Given the description of an element on the screen output the (x, y) to click on. 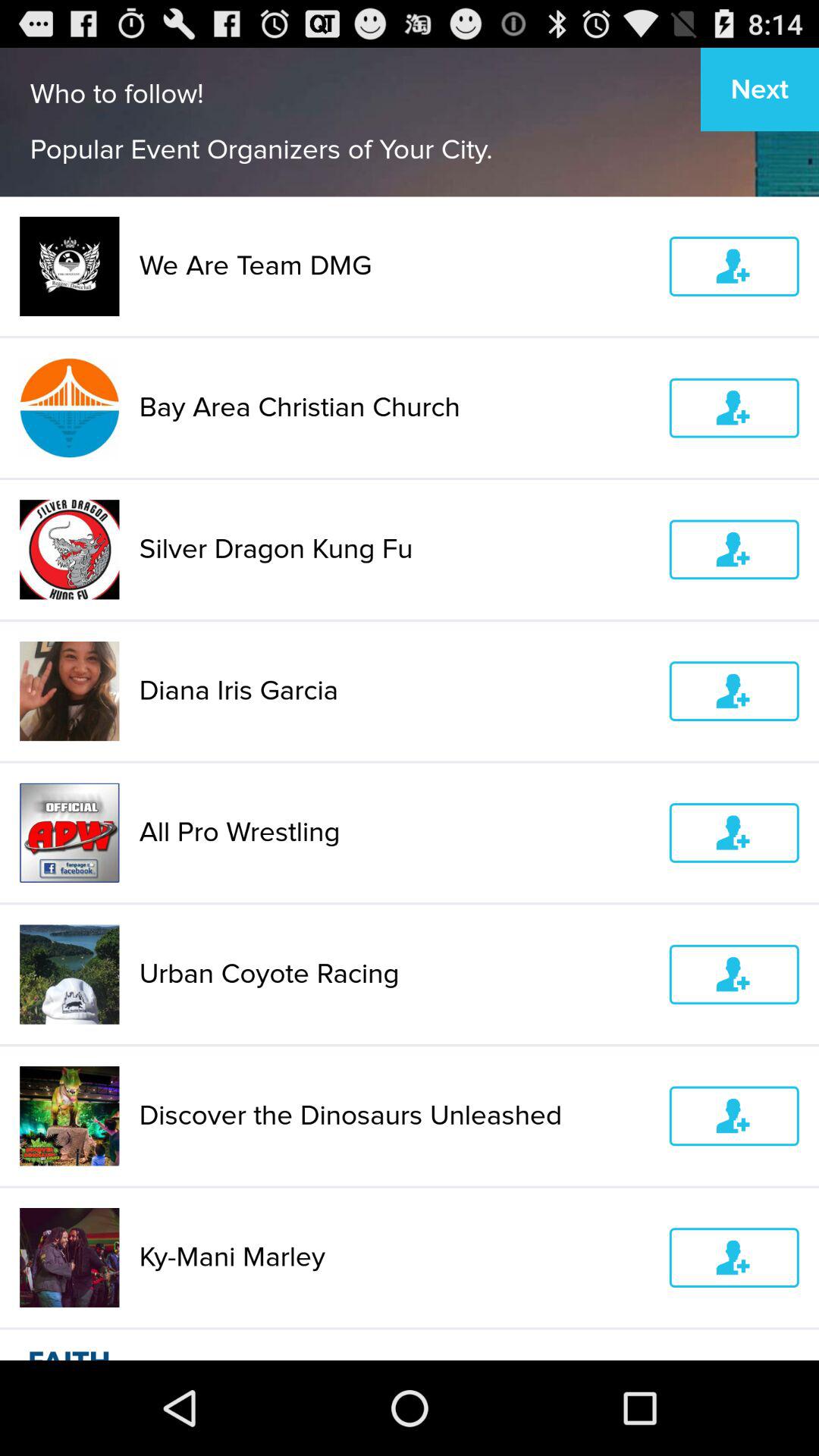
scroll to all pro wrestling app (394, 832)
